Given the description of an element on the screen output the (x, y) to click on. 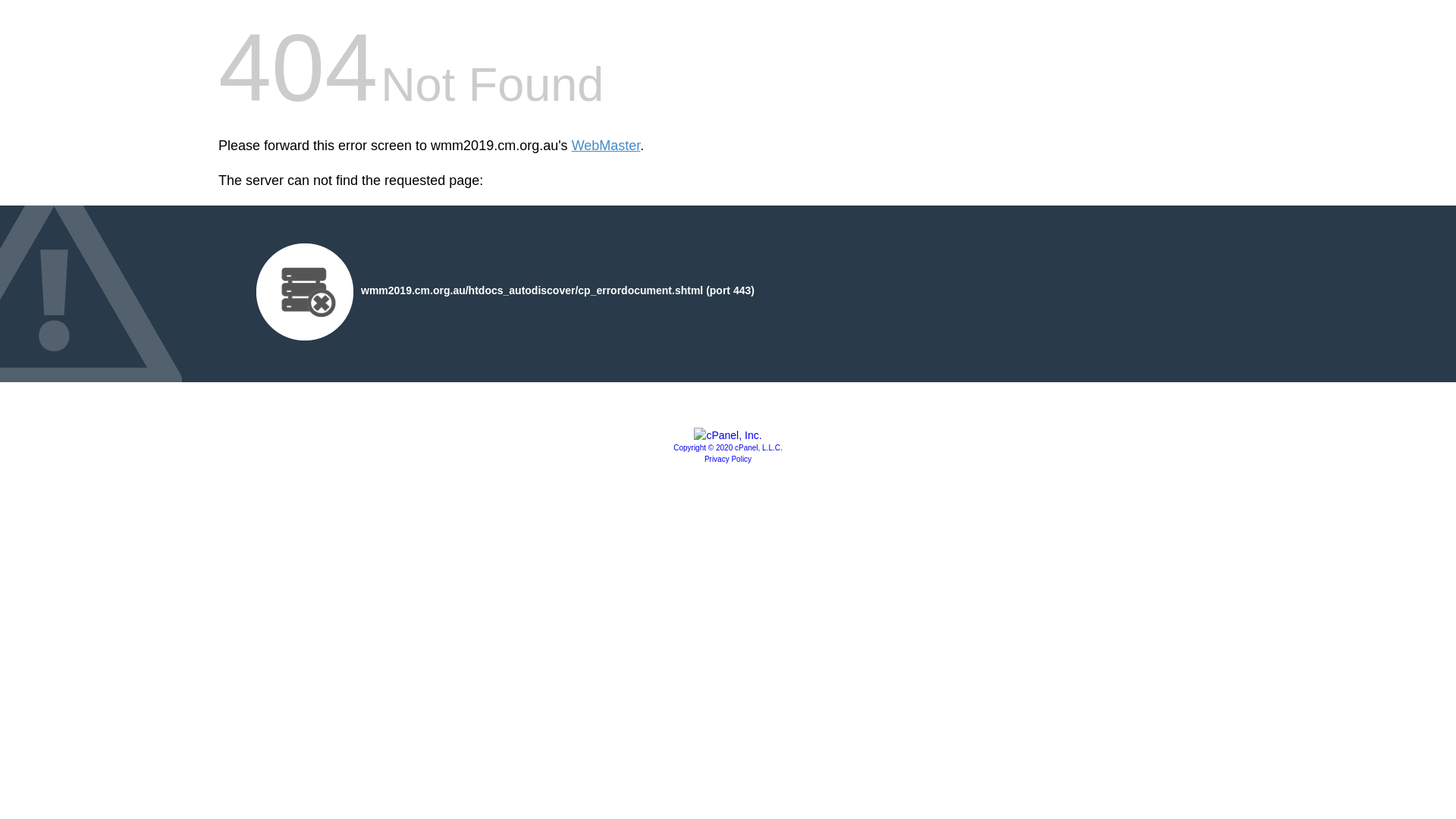
Privacy Policy Element type: text (727, 459)
WebMaster Element type: text (605, 145)
cPanel, Inc. Element type: hover (727, 435)
